Given the description of an element on the screen output the (x, y) to click on. 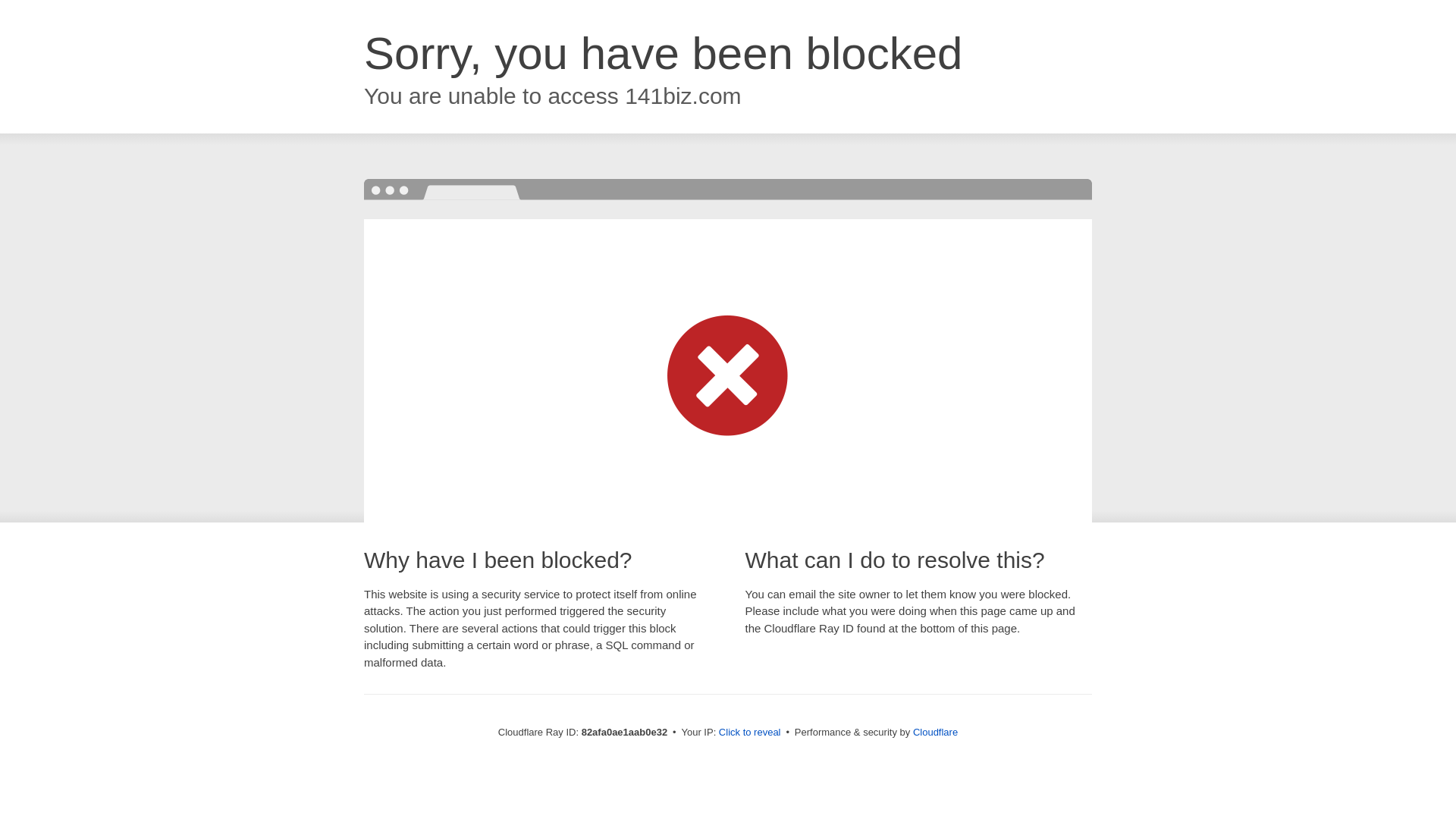
Cloudflare Element type: text (935, 731)
Click to reveal Element type: text (749, 732)
